Given the description of an element on the screen output the (x, y) to click on. 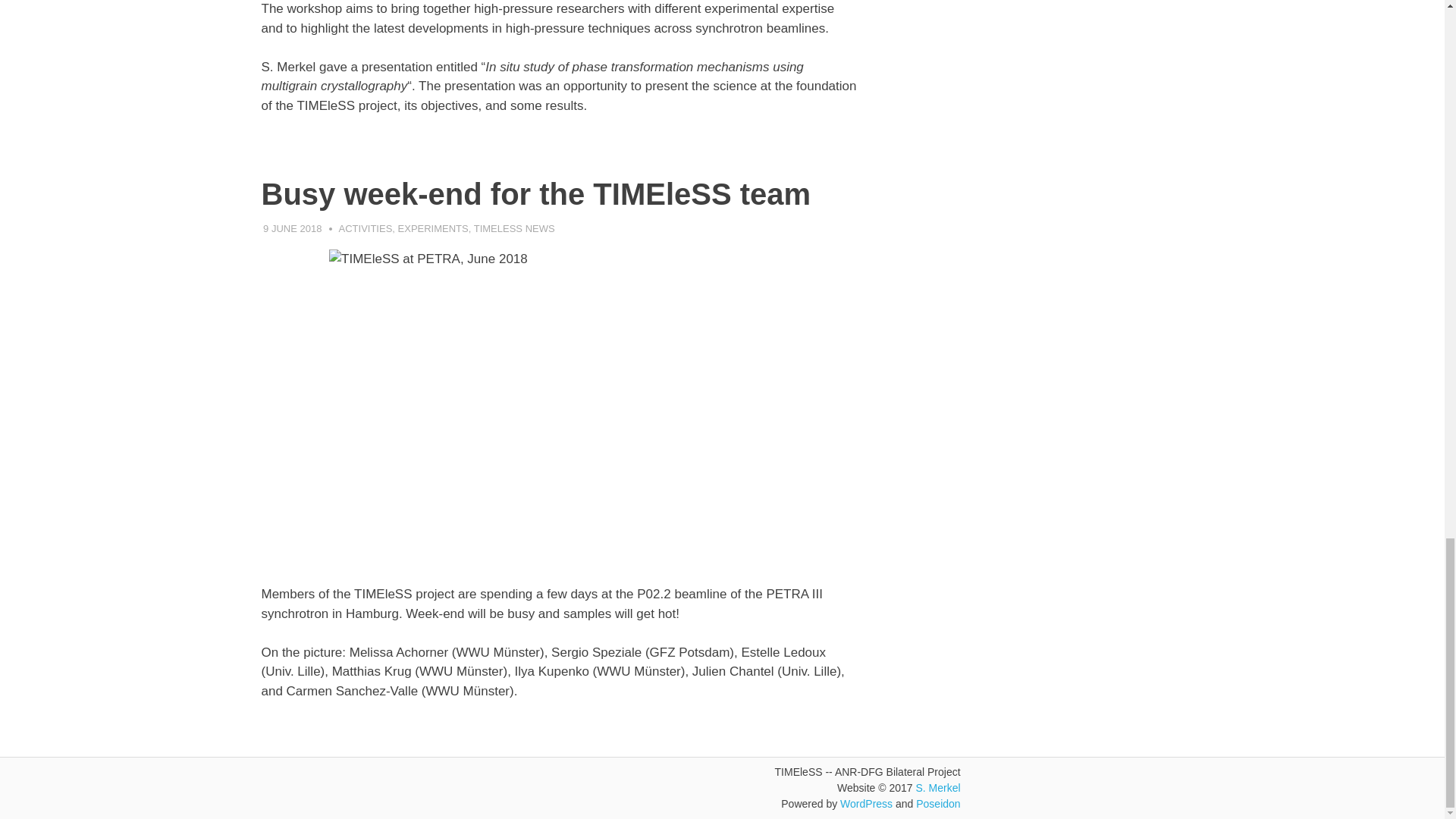
Poseidon WordPress Theme (937, 803)
09:41 (292, 228)
WordPress (866, 803)
